Given the description of an element on the screen output the (x, y) to click on. 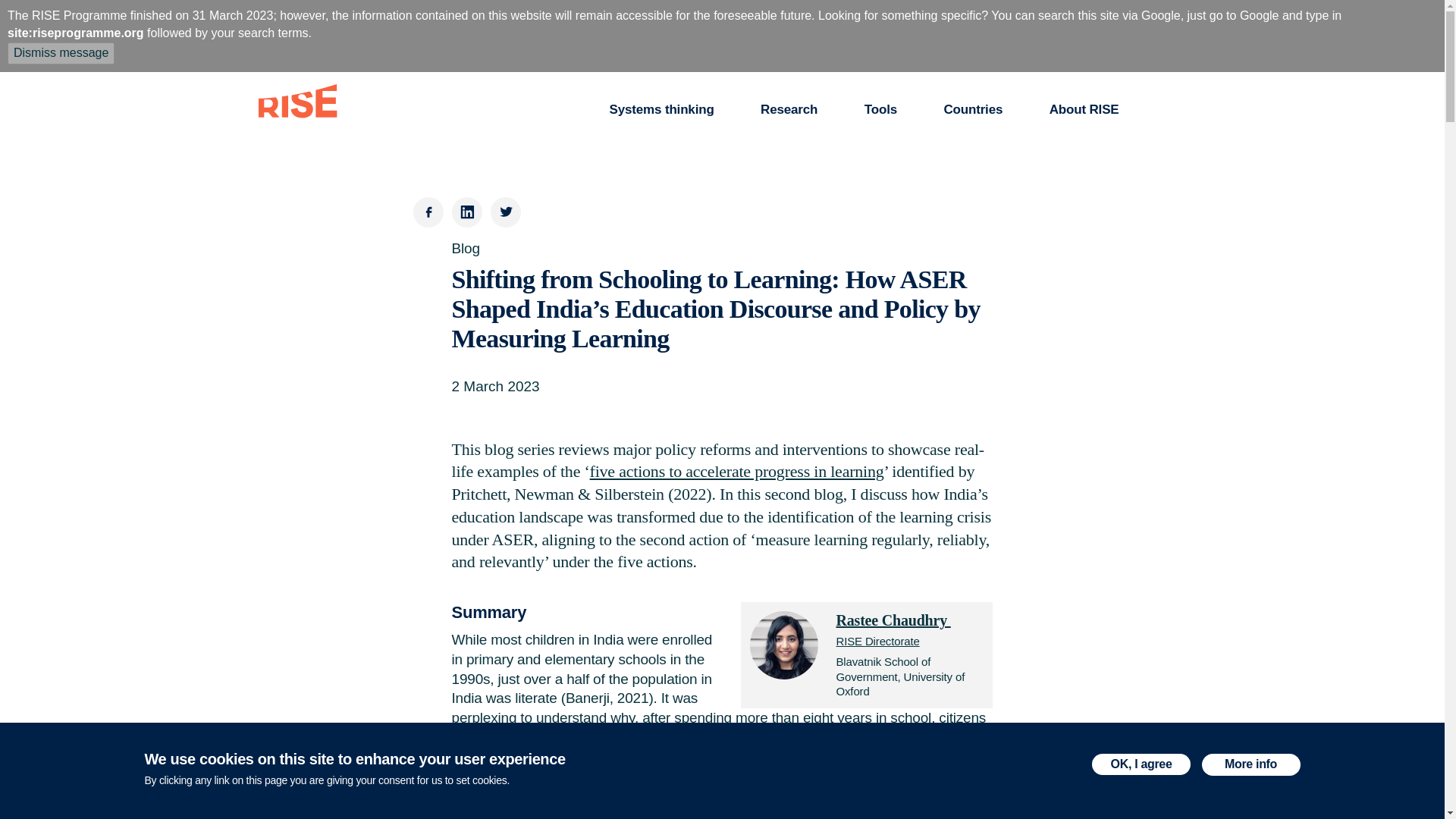
List of all RISE publications (788, 110)
